Given the description of an element on the screen output the (x, y) to click on. 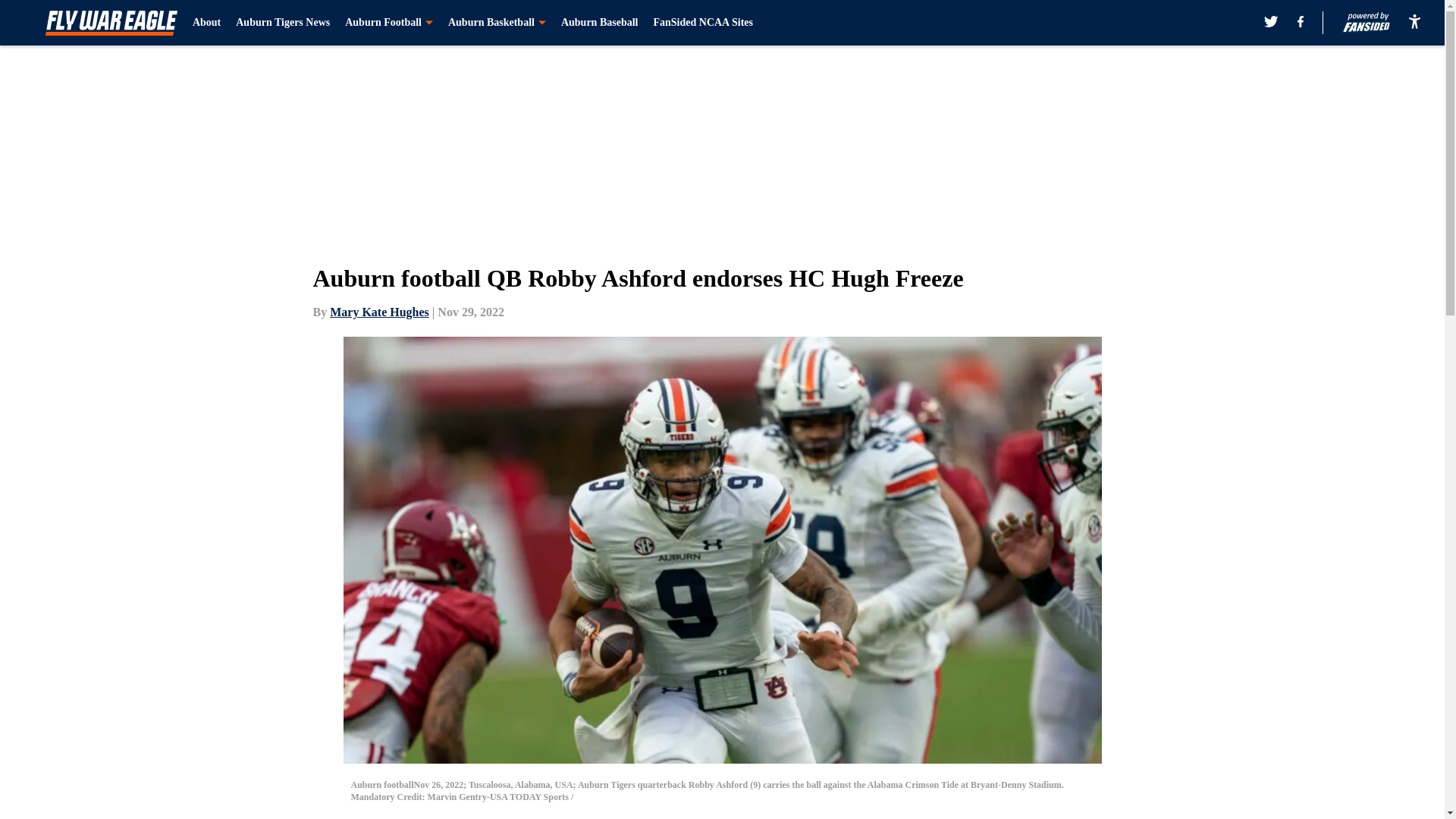
About (206, 22)
Auburn Tigers News (282, 22)
FanSided NCAA Sites (702, 22)
Auburn Baseball (599, 22)
Mary Kate Hughes (379, 311)
